Given the description of an element on the screen output the (x, y) to click on. 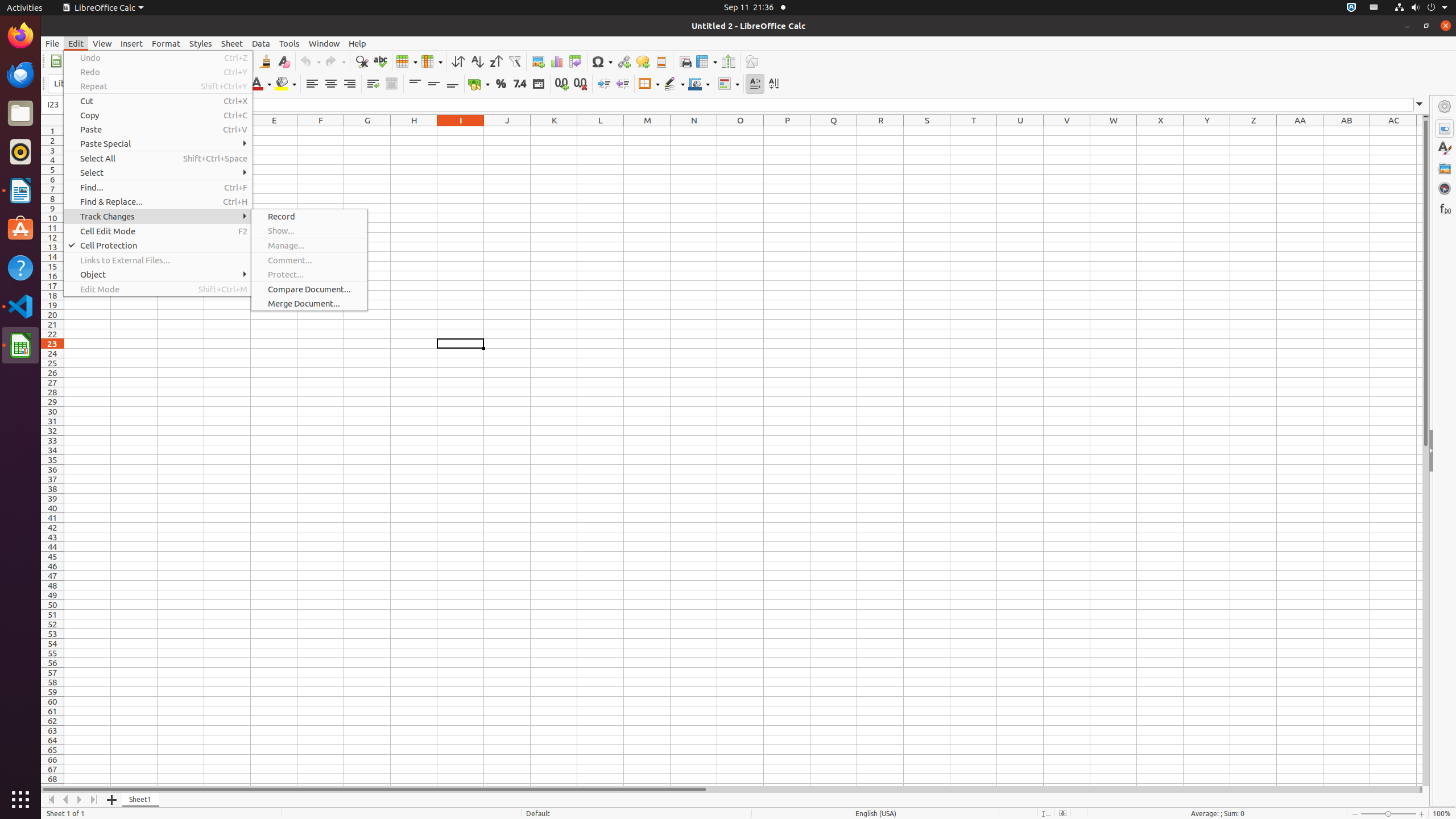
AD1 Element type: table-cell (1419, 130)
